Given the description of an element on the screen output the (x, y) to click on. 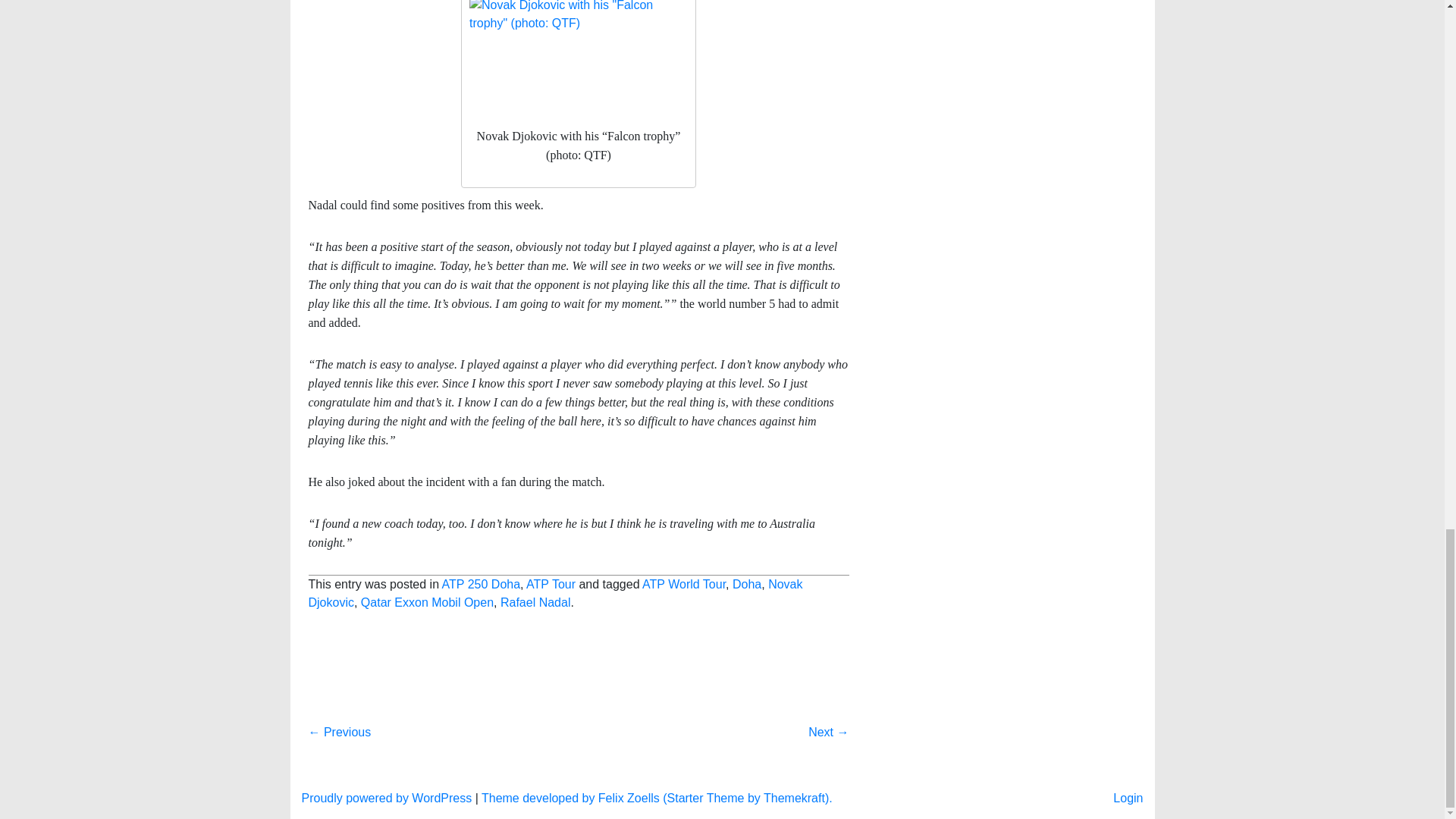
Rafael Nadal (535, 755)
Qatar Exxon Mobil Open (427, 755)
Doha (746, 737)
Novak Djokovic (554, 746)
ATP World Tour (683, 737)
ATP Tour (550, 737)
ATP 250 Doha (480, 737)
